Given the description of an element on the screen output the (x, y) to click on. 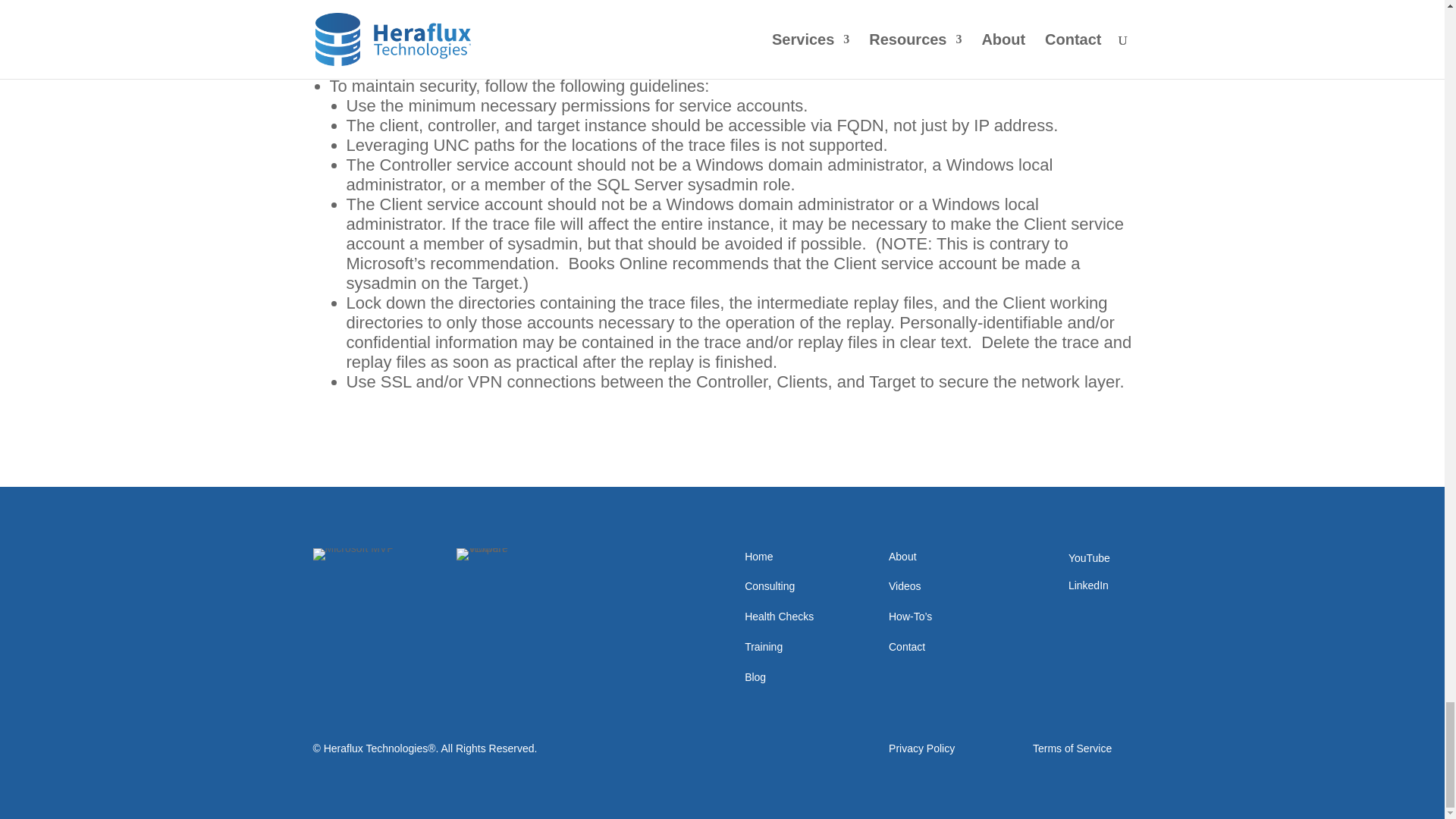
VMware vExpert (496, 553)
Microsoft MVP (353, 553)
